Given the description of an element on the screen output the (x, y) to click on. 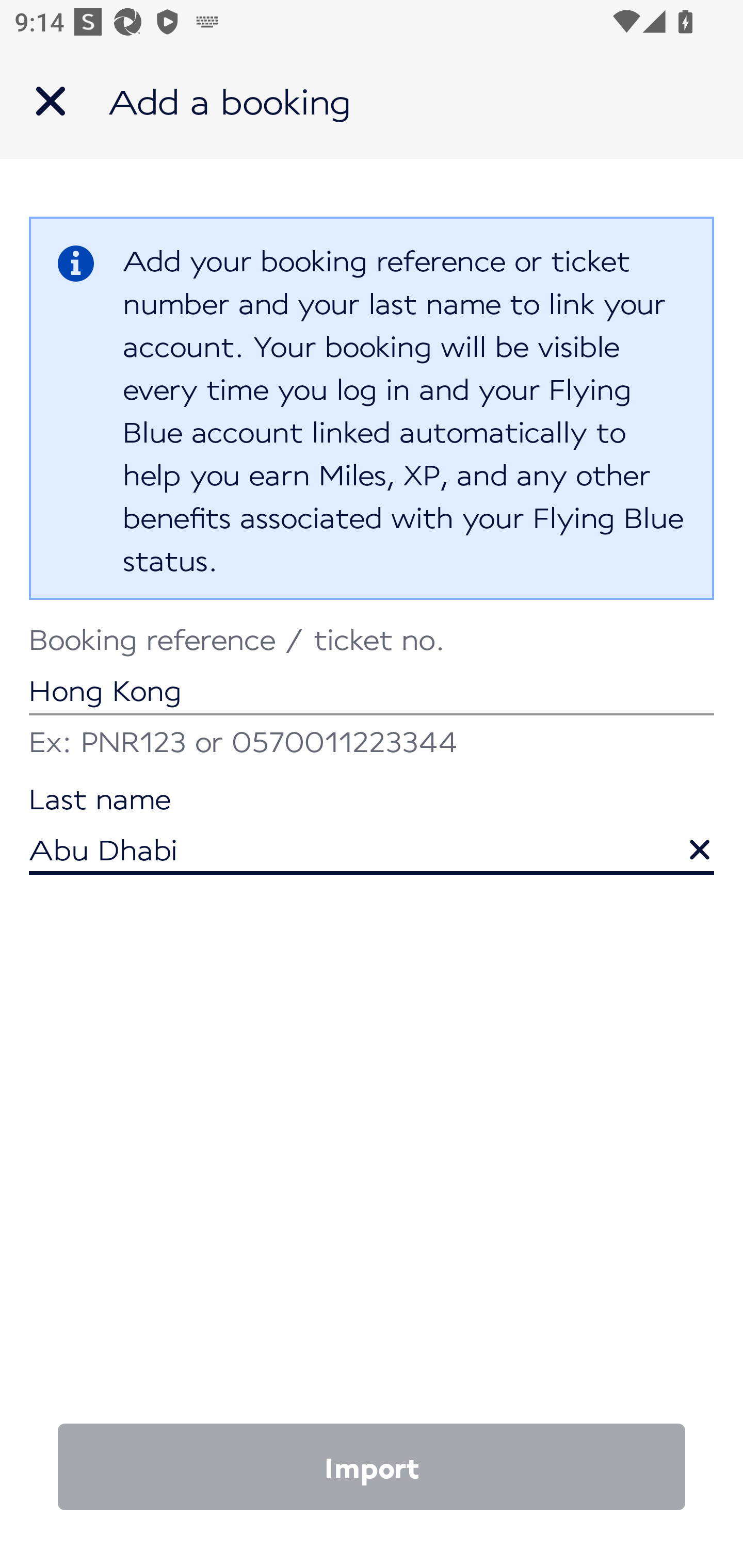
Hong Kong Ex: PNR123 or 0570011223344 (371, 693)
Hong Kong (371, 671)
Abu Dhabi Clear text (371, 831)
Clear text (685, 839)
Import (371, 1466)
